Given the description of an element on the screen output the (x, y) to click on. 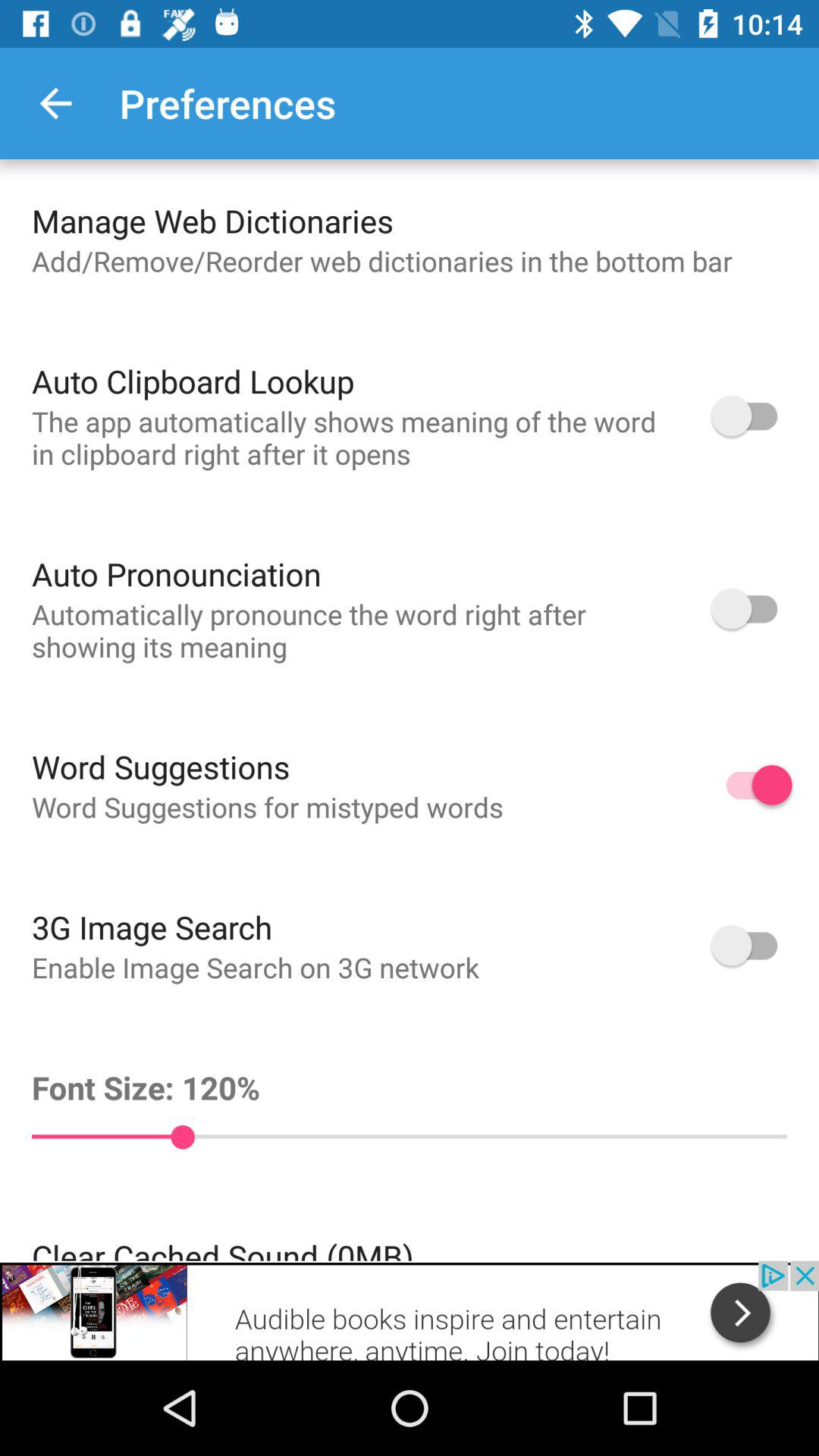
details about advertisement (409, 1310)
